Given the description of an element on the screen output the (x, y) to click on. 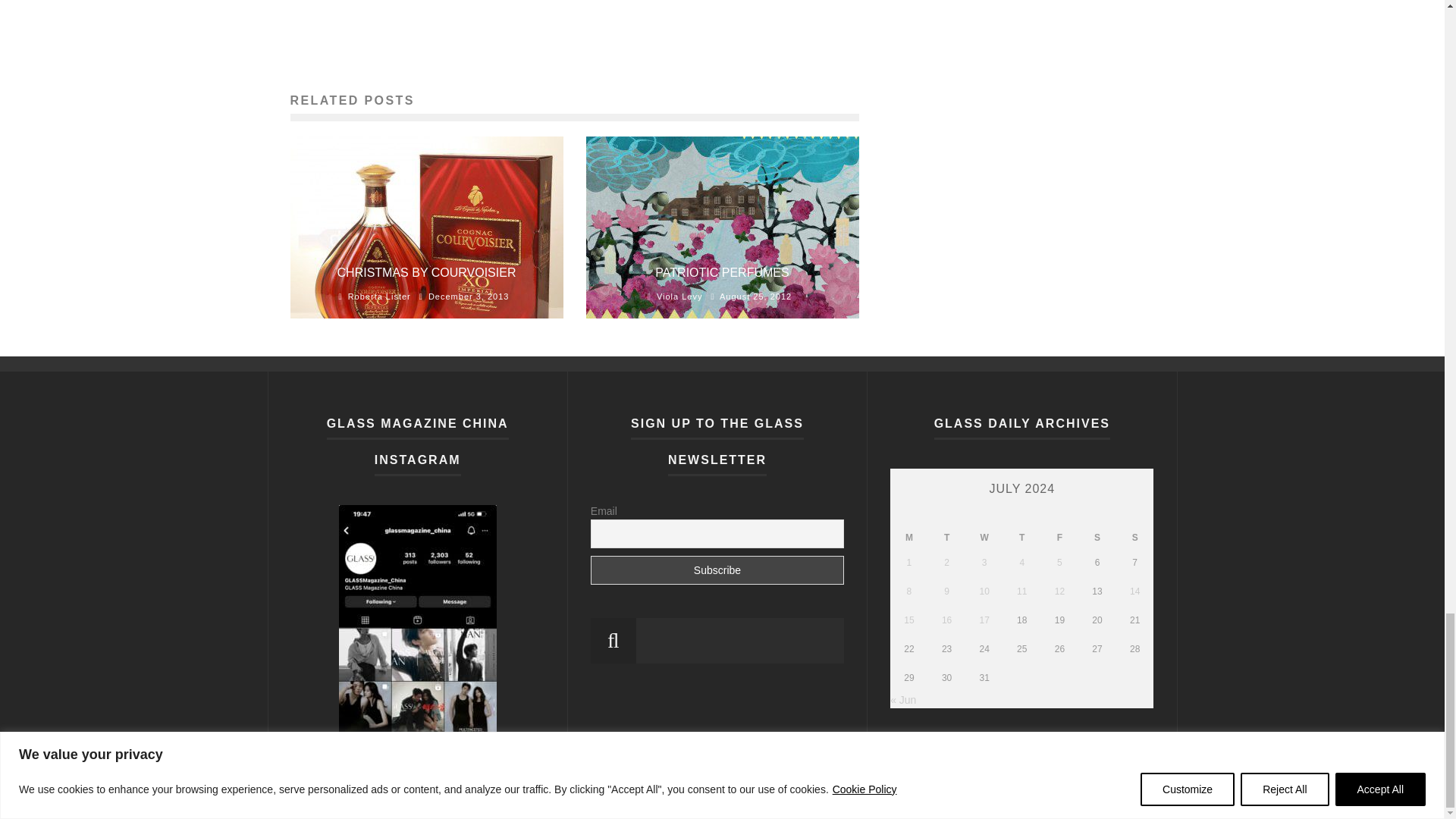
Subscribe (717, 570)
